Given the description of an element on the screen output the (x, y) to click on. 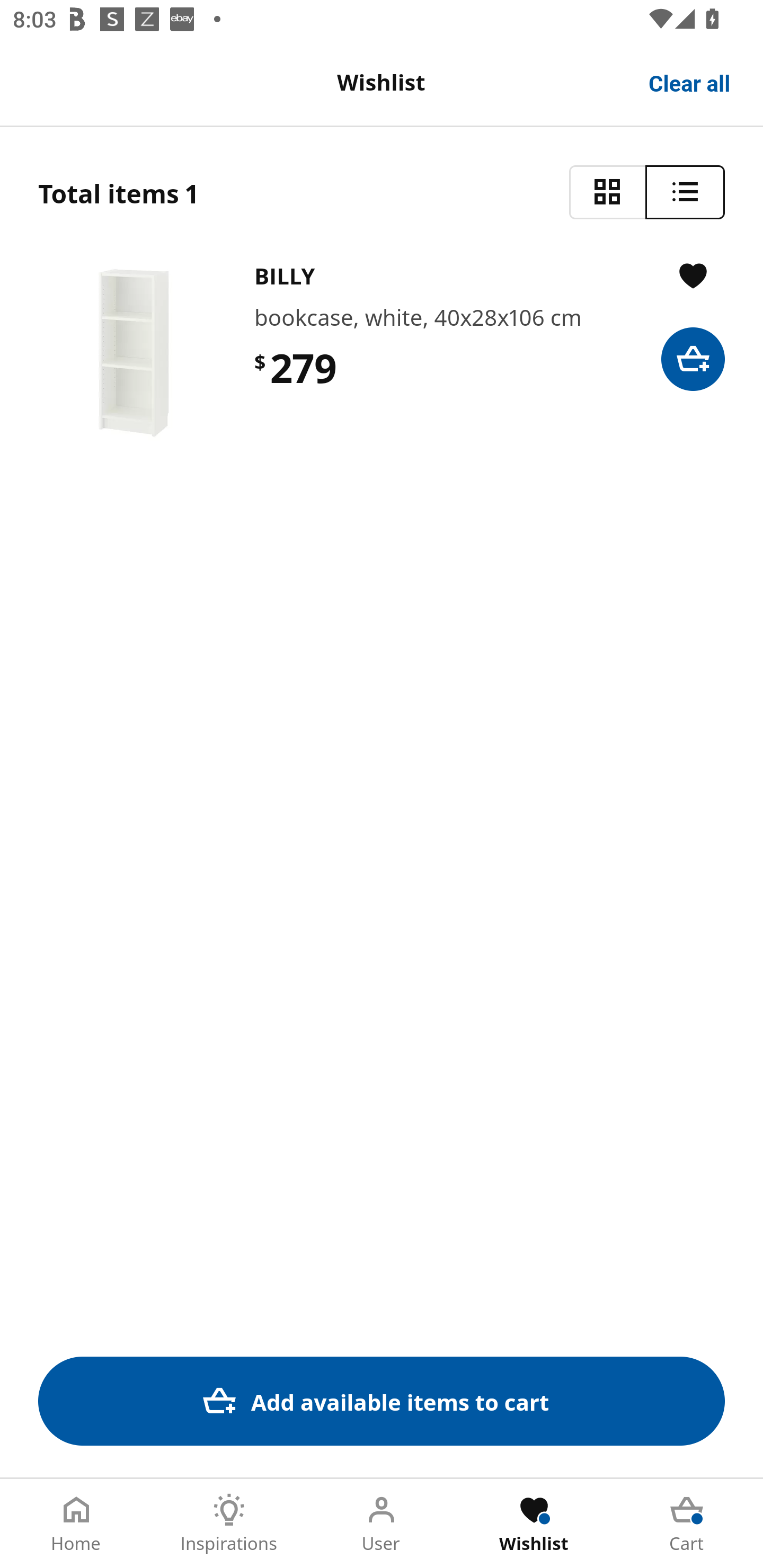
Clear all (689, 81)
​B​I​L​L​Y​
bookcase, white, 40x28x106 cm
$
279 (381, 352)
Add available items to cart (381, 1400)
Home
Tab 1 of 5 (76, 1522)
Inspirations
Tab 2 of 5 (228, 1522)
User
Tab 3 of 5 (381, 1522)
Wishlist
Tab 4 of 5 (533, 1522)
Cart
Tab 5 of 5 (686, 1522)
